Given the description of an element on the screen output the (x, y) to click on. 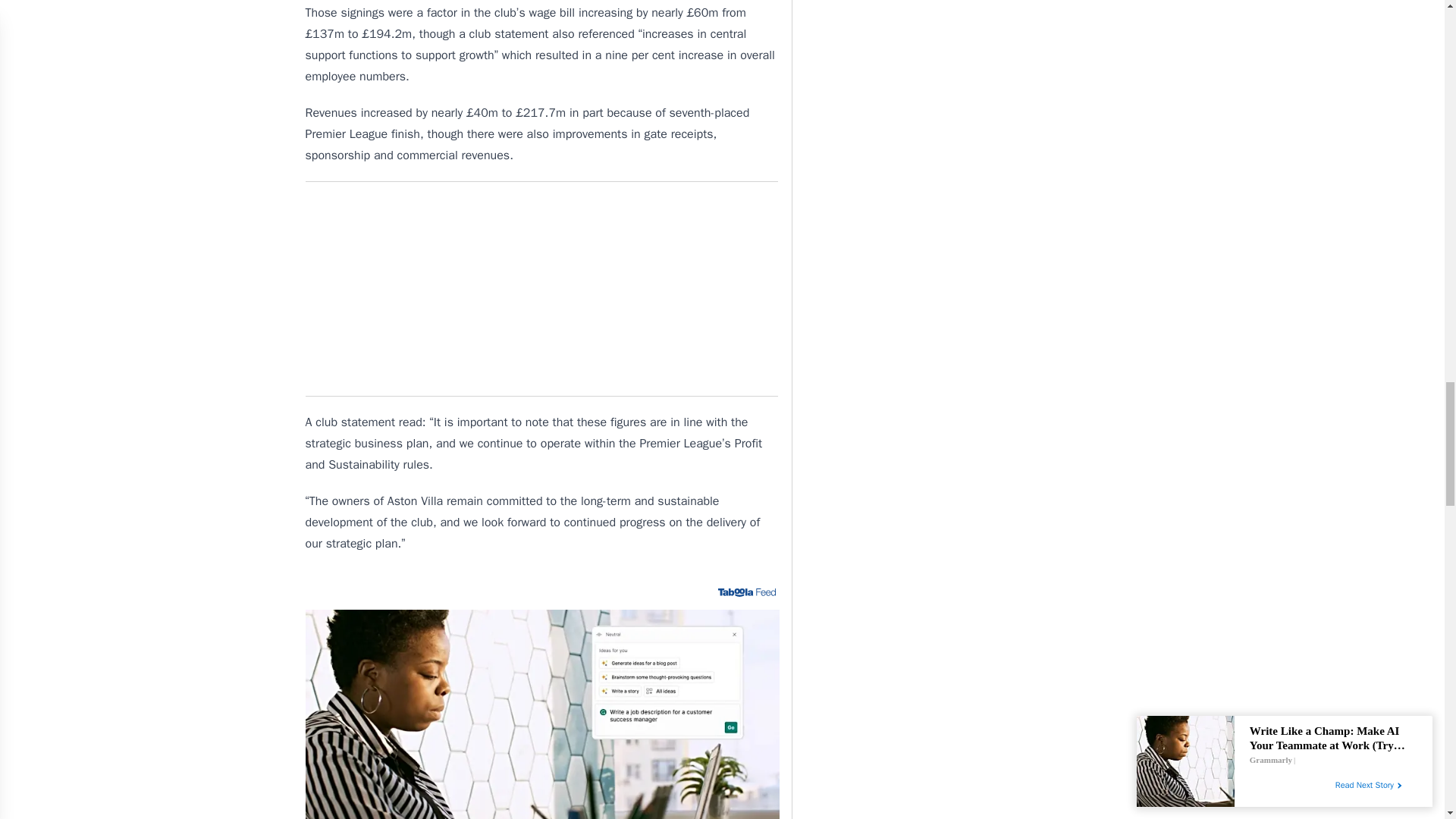
3rd party ad content (541, 289)
